Given the description of an element on the screen output the (x, y) to click on. 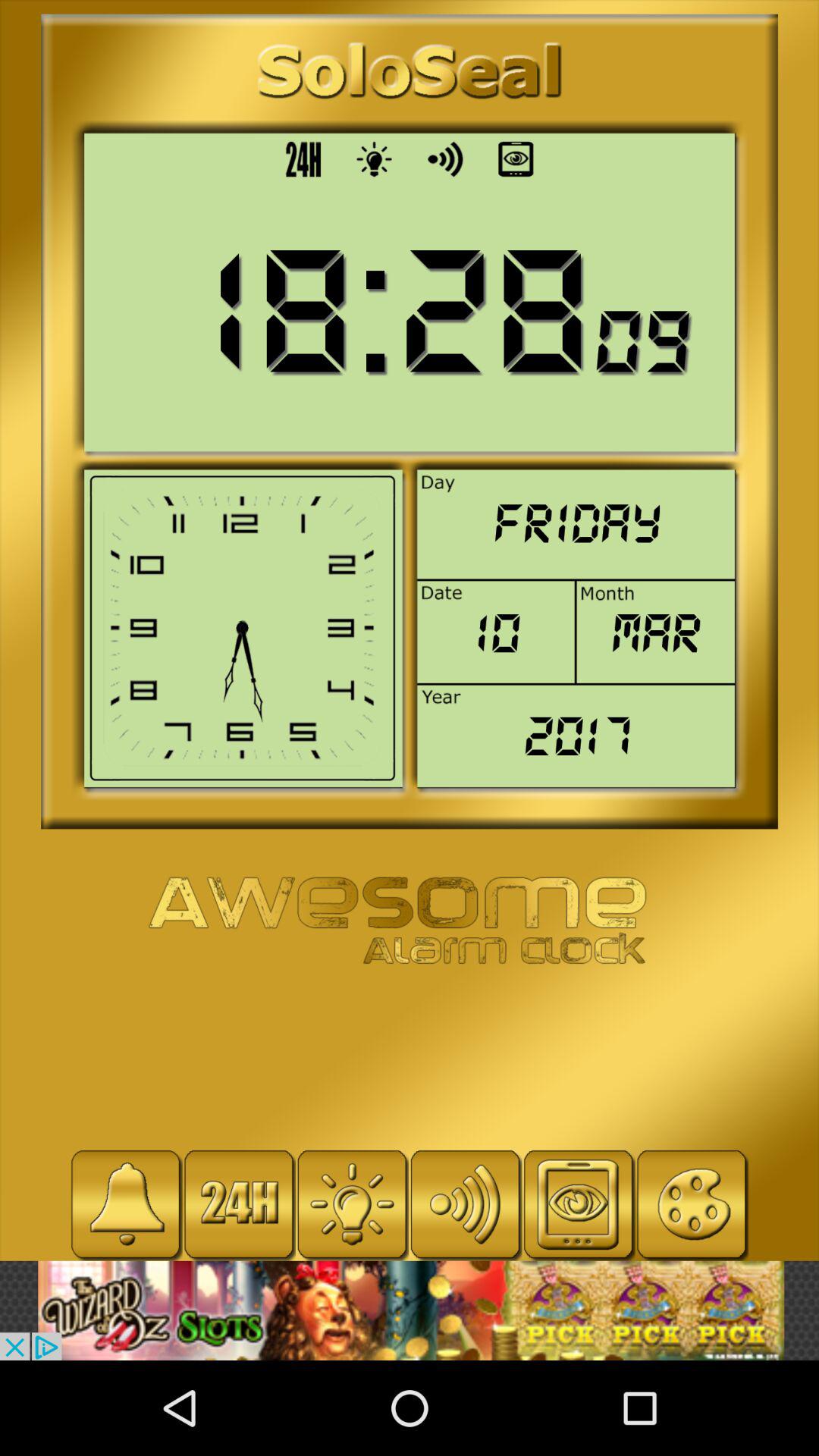
click button (691, 1203)
